Given the description of an element on the screen output the (x, y) to click on. 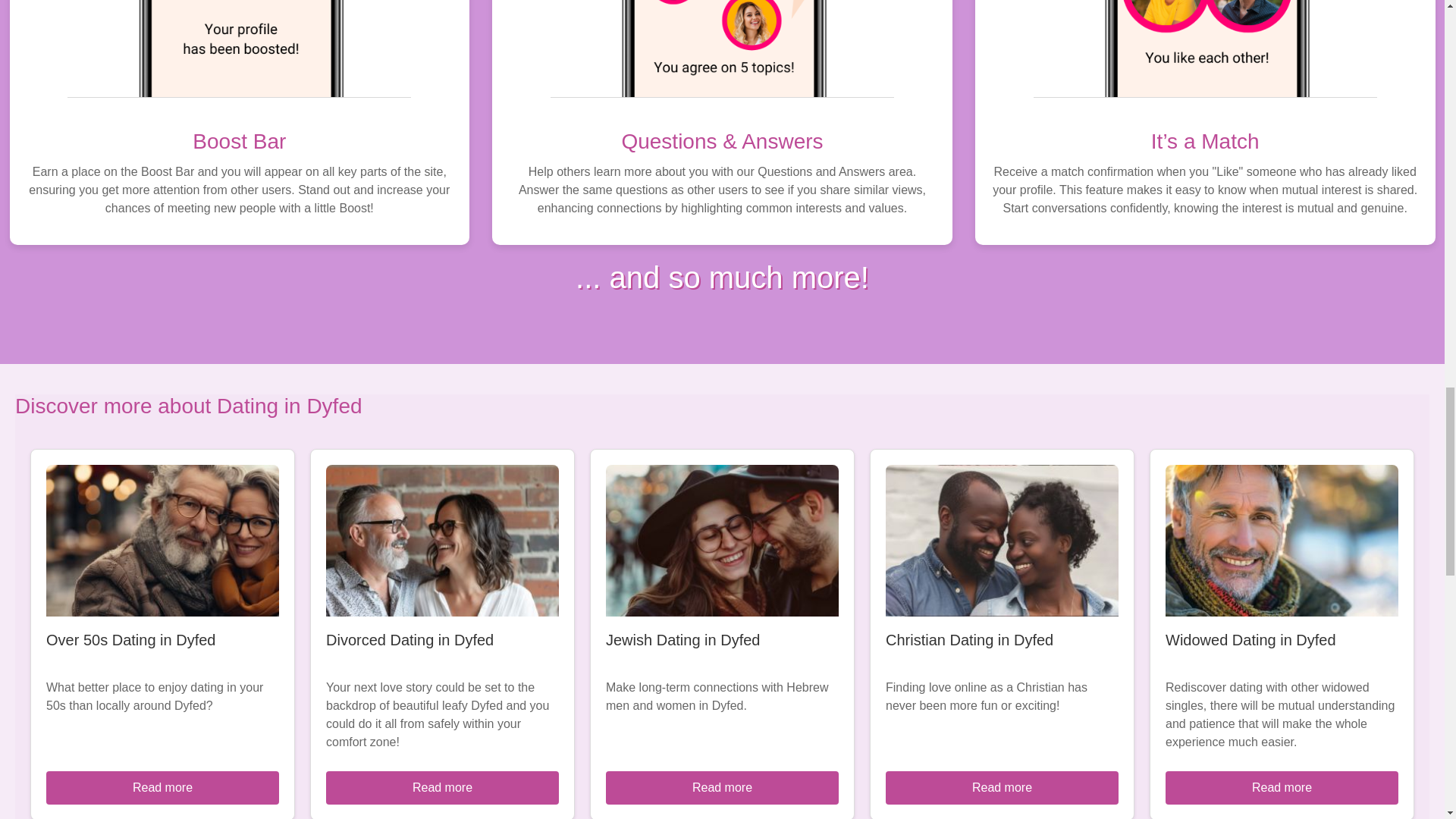
Read more (1281, 787)
Read more (721, 787)
Read more (162, 787)
Read more (442, 787)
Read more (1001, 787)
